Given the description of an element on the screen output the (x, y) to click on. 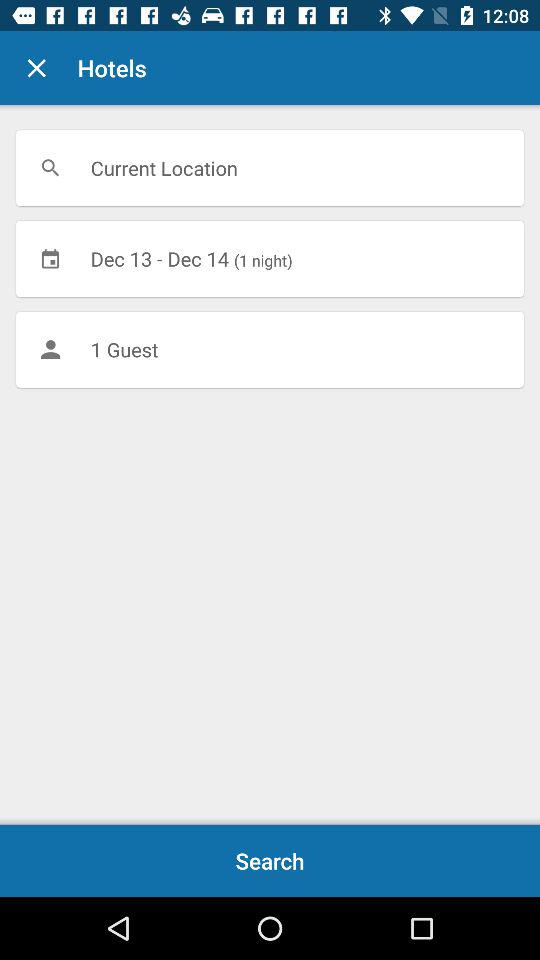
tap the icon above the dec 13 dec icon (269, 168)
